Given the description of an element on the screen output the (x, y) to click on. 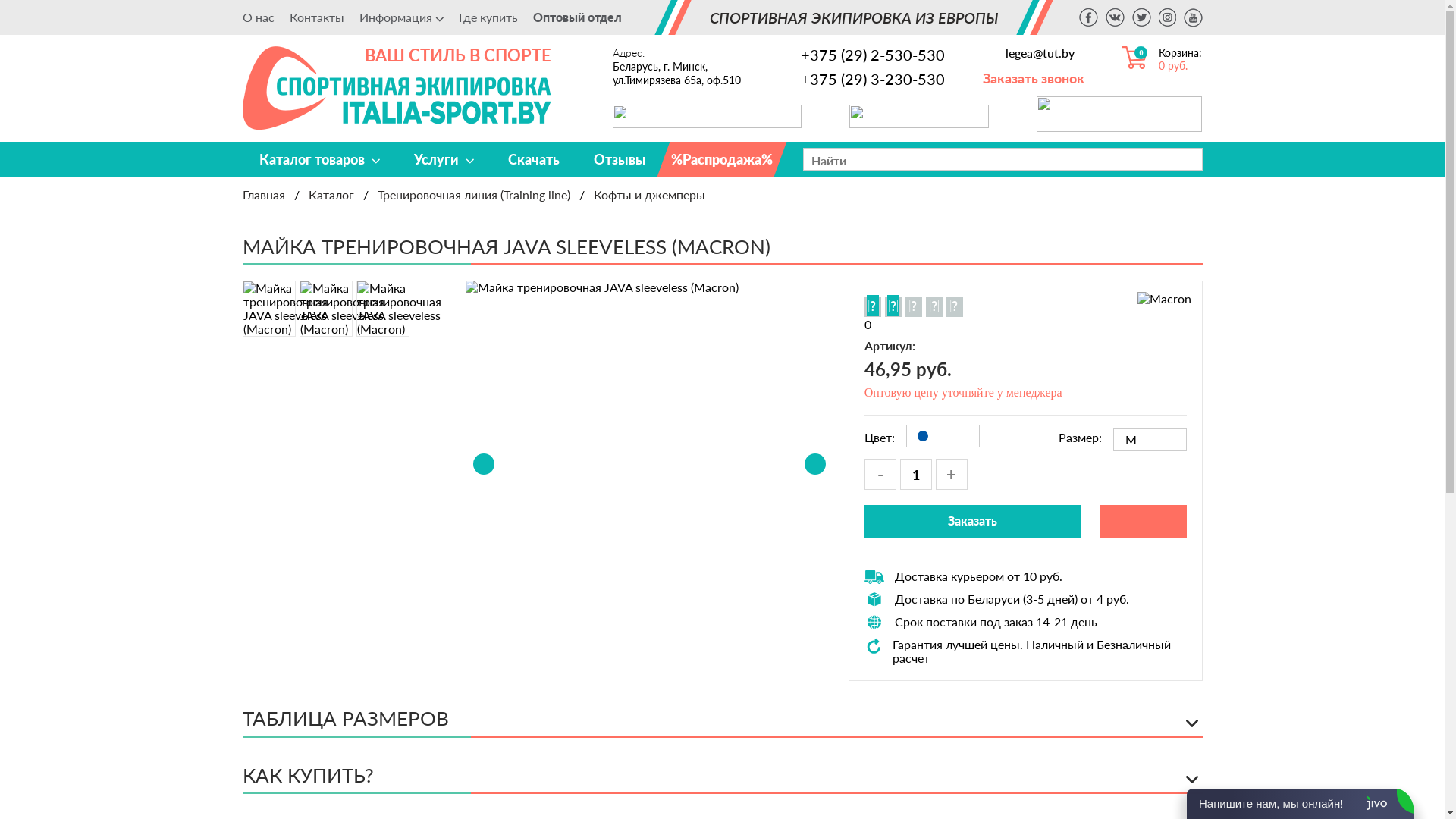
legea@tut.by Element type: text (1033, 52)
Previous Element type: text (483, 463)
Next Element type: text (814, 463)
+375 (29) 2-530-530 Element type: text (861, 53)
+375 (29) 3-230-530 Element type: text (861, 77)
